Given the description of an element on the screen output the (x, y) to click on. 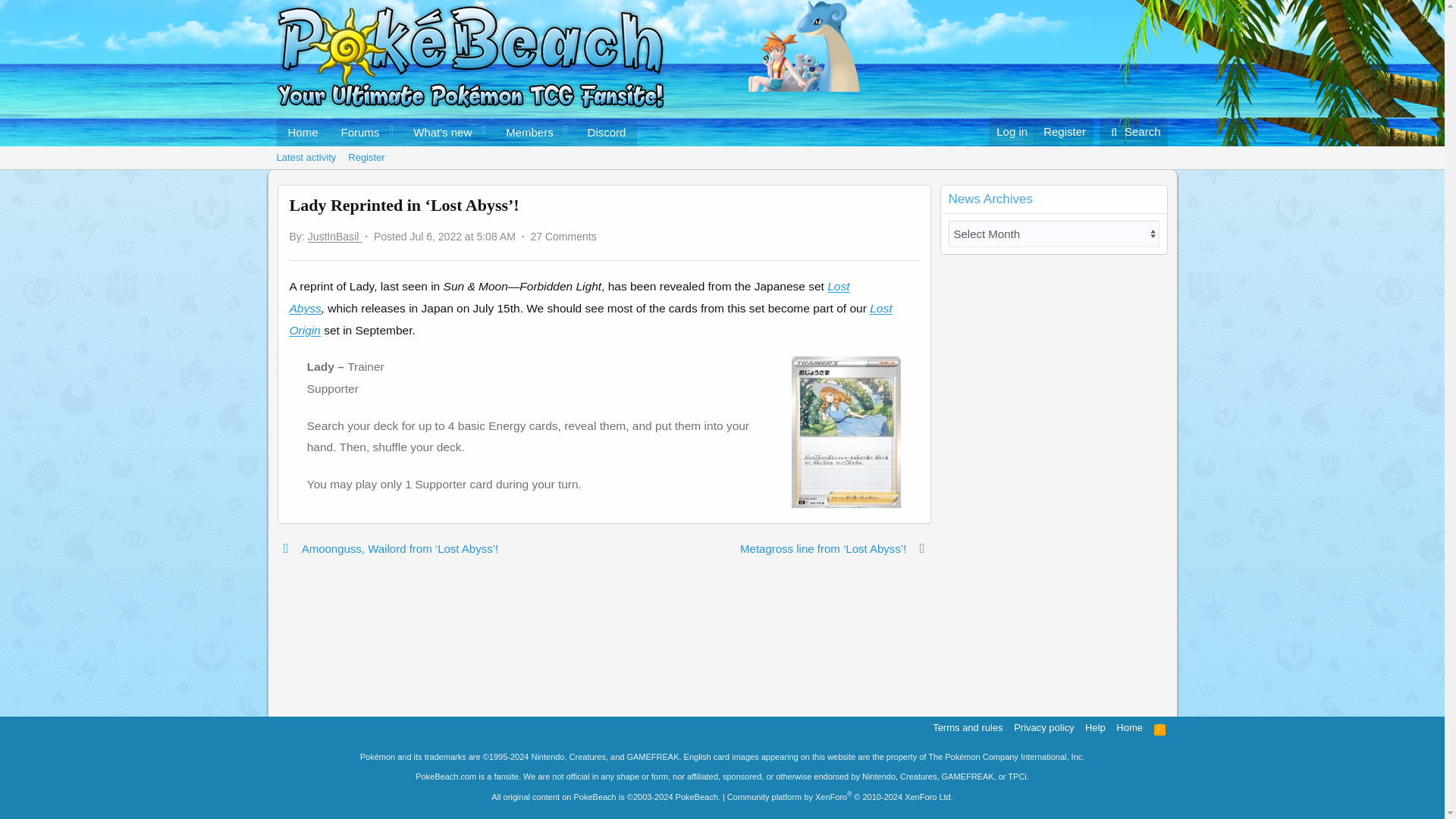
RSS (1160, 727)
Forums (456, 131)
27 Comments (355, 131)
Members (562, 236)
Lost Abyss (524, 131)
Search (721, 174)
Register (569, 297)
Lost Origin (1134, 131)
